Given the description of an element on the screen output the (x, y) to click on. 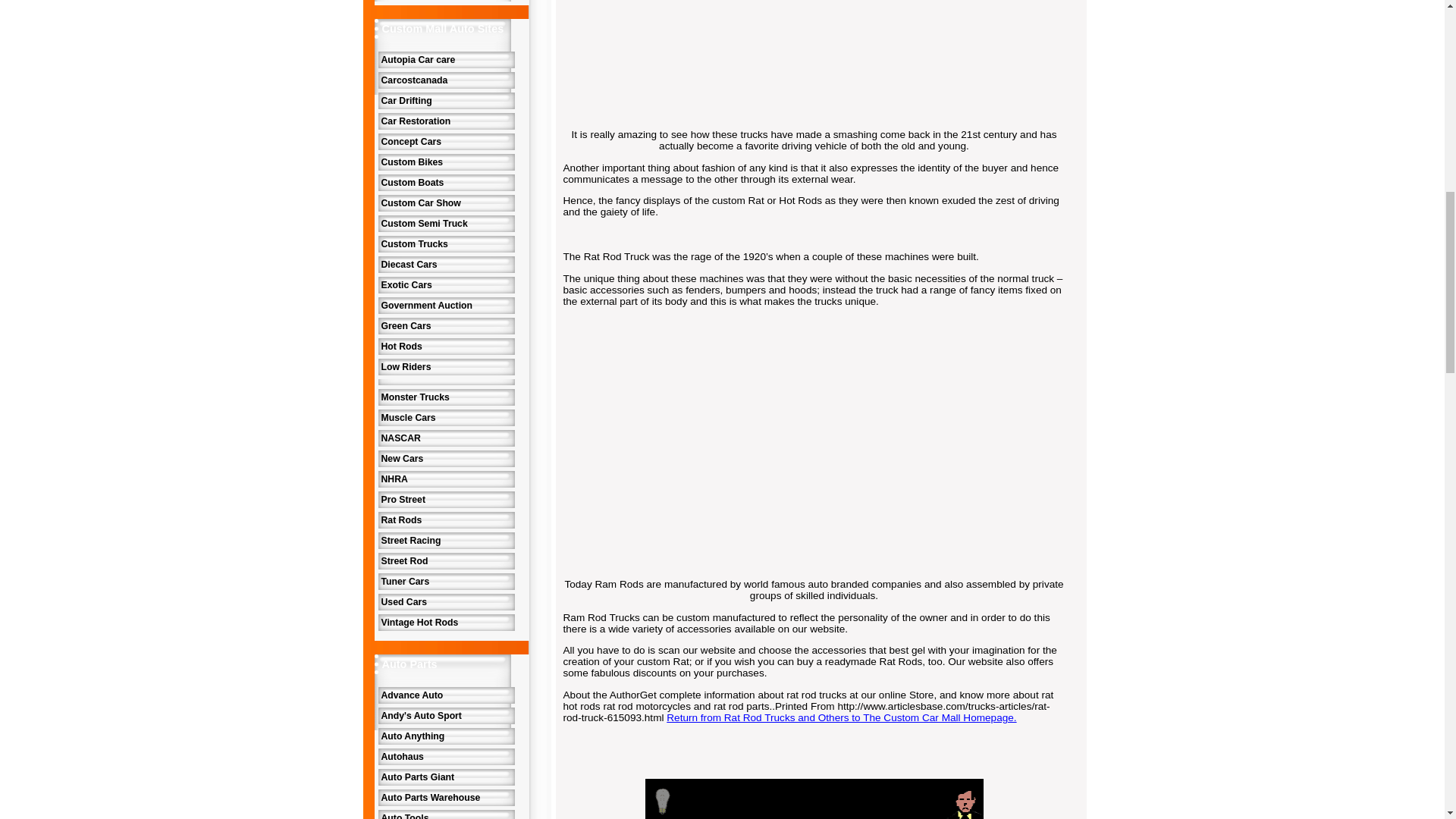
Custom Bikes (445, 161)
Car Drifting (445, 100)
Green Cars (445, 325)
NASCAR (445, 437)
New Cars (445, 458)
Muscle Cars (445, 417)
Pro Street (445, 499)
Custom Boats (445, 182)
Custom Trucks (445, 243)
Street Racing (445, 540)
Hot Rods (445, 346)
Custom Car Show (445, 202)
Exotic Cars (445, 284)
Government Auction (445, 305)
Custom Semi Truck (445, 223)
